Given the description of an element on the screen output the (x, y) to click on. 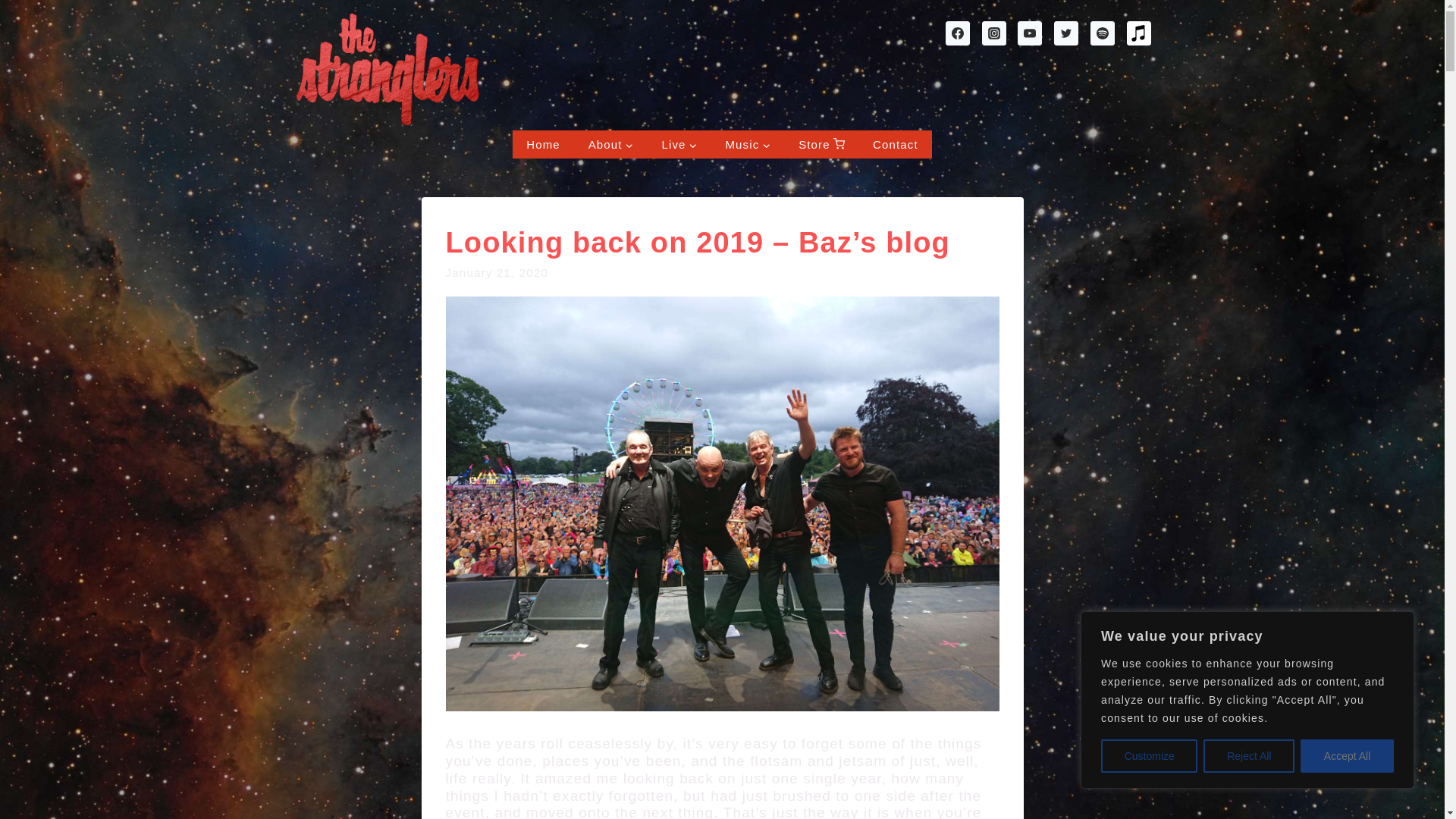
Store (821, 144)
Live (679, 144)
Accept All (1346, 756)
Customize (1148, 756)
Contact (896, 144)
Reject All (1249, 756)
About (610, 144)
Music (747, 144)
Home (542, 144)
